Given the description of an element on the screen output the (x, y) to click on. 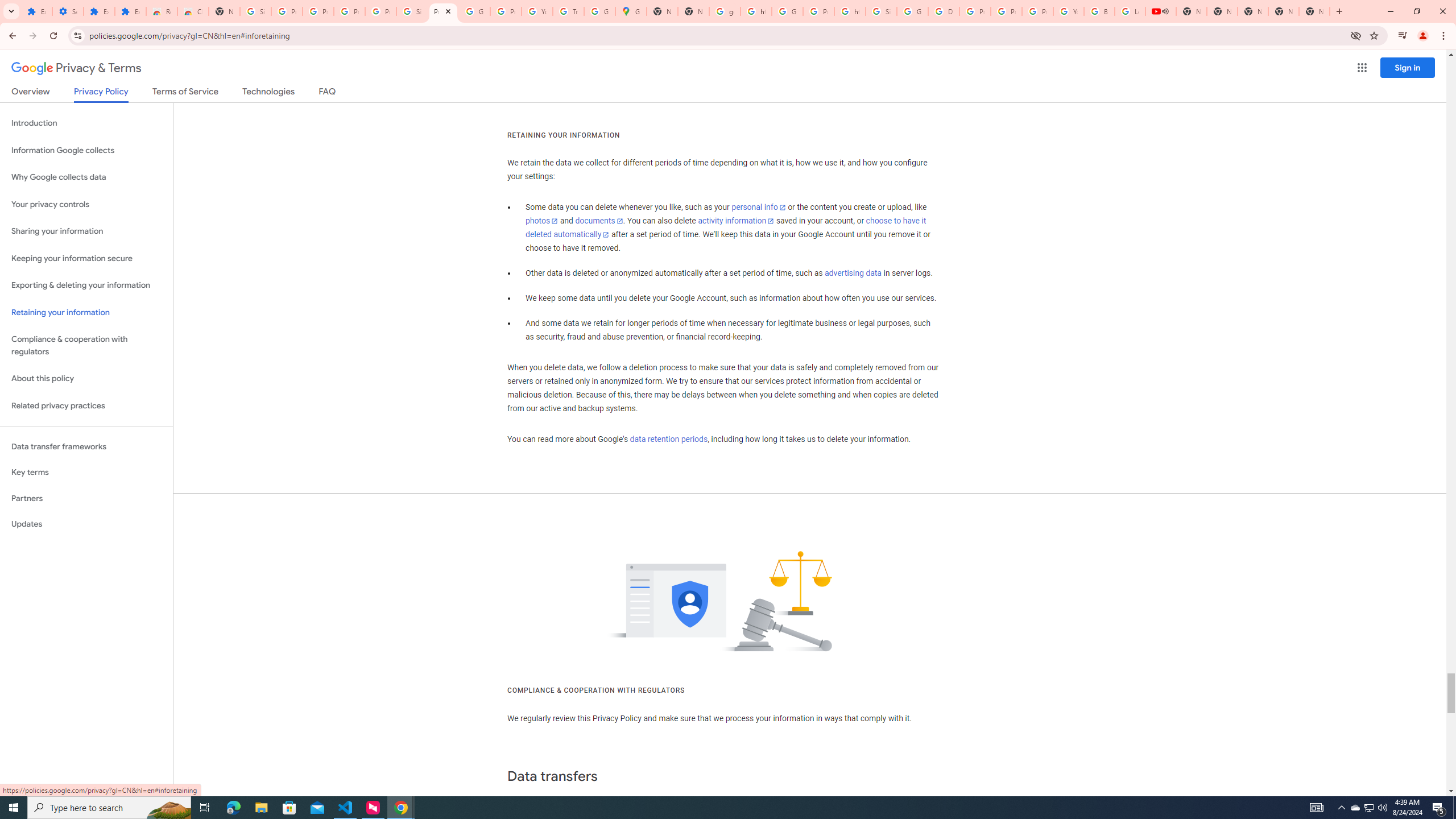
Settings (67, 11)
Retaining your information (86, 312)
Data transfer frameworks (86, 446)
